Given the description of an element on the screen output the (x, y) to click on. 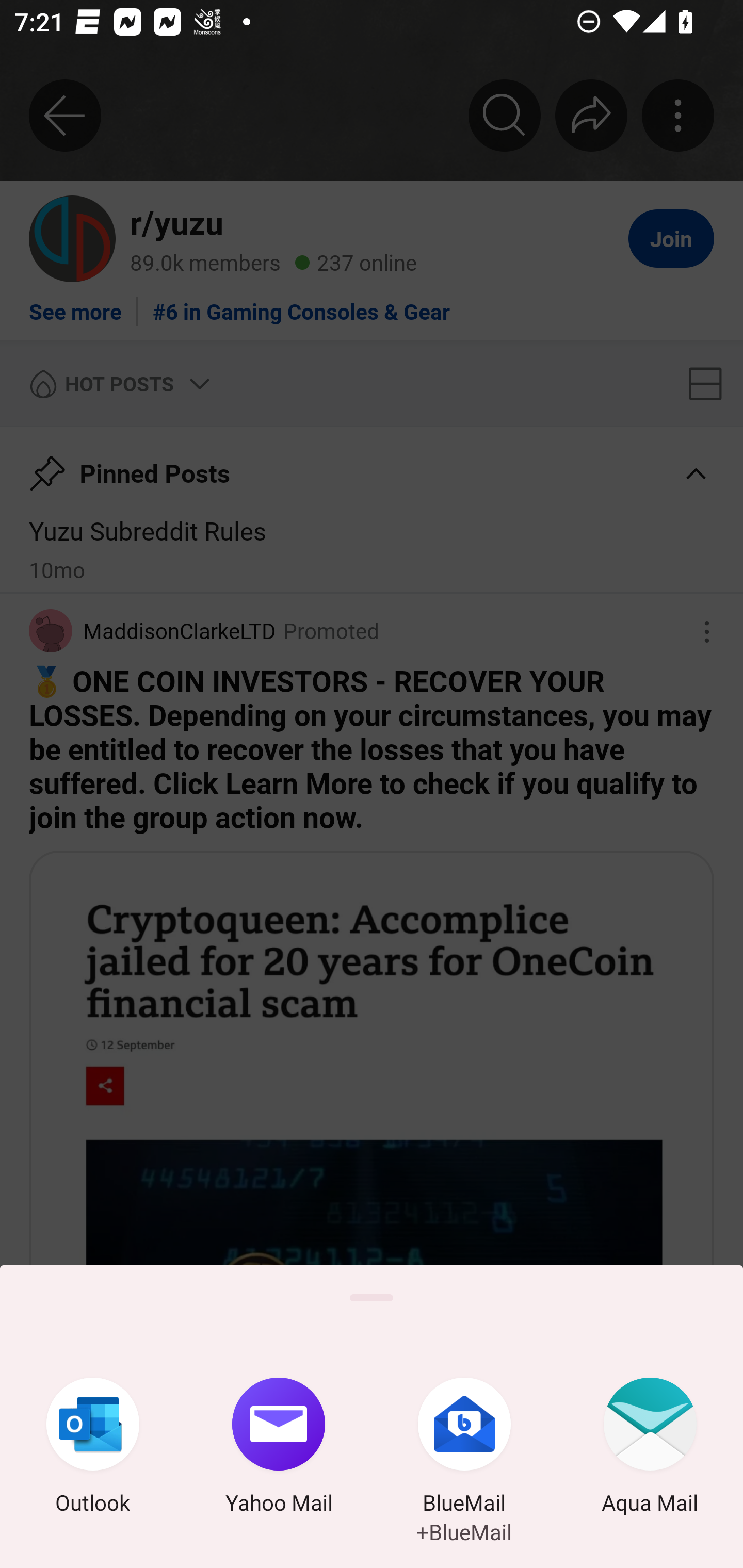
Outlook (92, 1448)
Yahoo Mail (278, 1448)
BlueMail +BlueMail (464, 1448)
Aqua Mail (650, 1448)
